Given the description of an element on the screen output the (x, y) to click on. 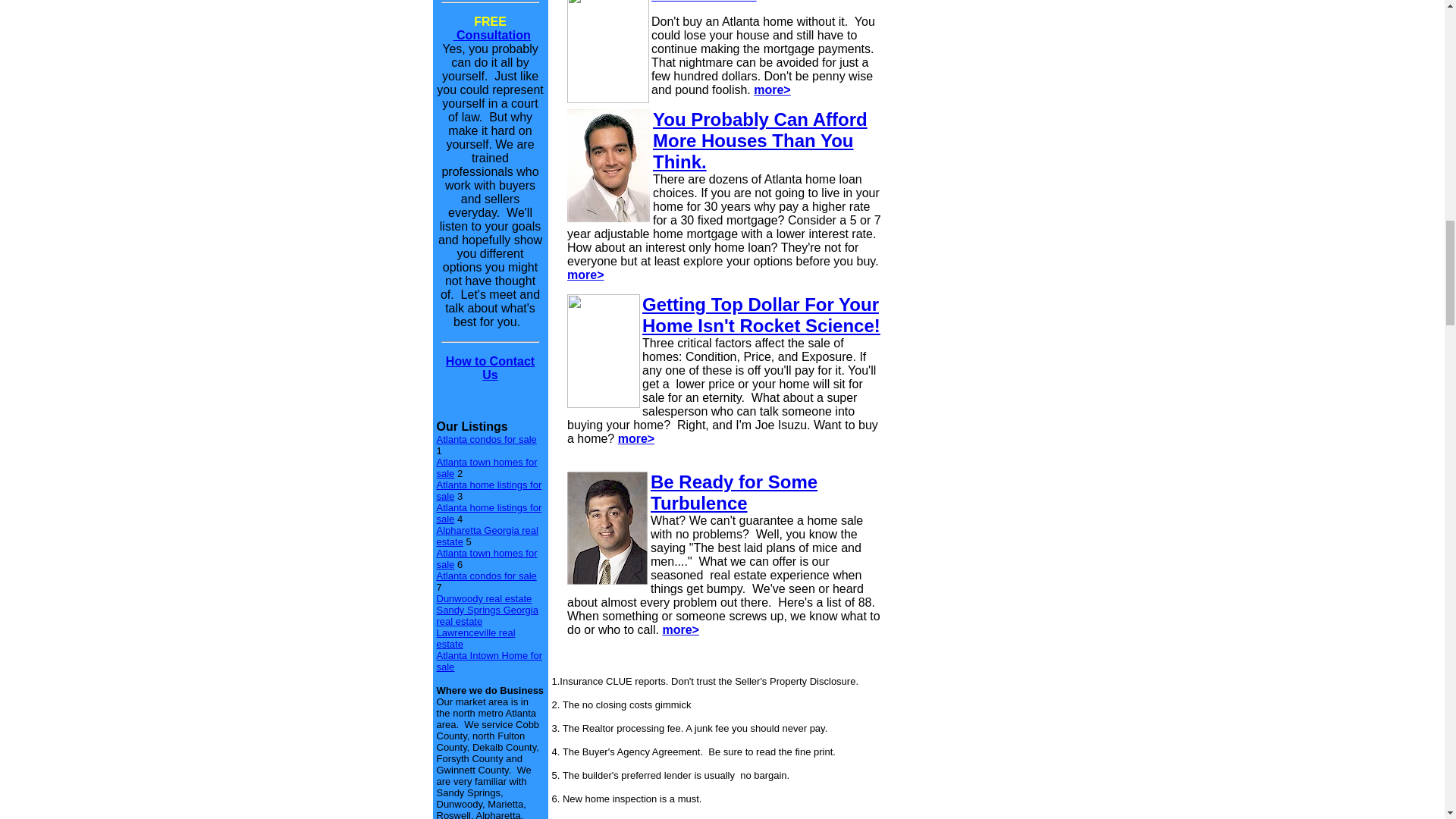
Atlanta town homes for sale (486, 467)
Atlanta Intown Home for sale (488, 661)
Atlanta home listings for sale (488, 490)
How to Contact Us (489, 367)
Atlanta condos for sale (486, 439)
Atlanta home listings for sale (488, 513)
Consultation (491, 34)
Lawrenceville real estate (475, 638)
Atlanta town homes for sale (486, 558)
Sandy Springs Georgia real estate (487, 614)
